Given the description of an element on the screen output the (x, y) to click on. 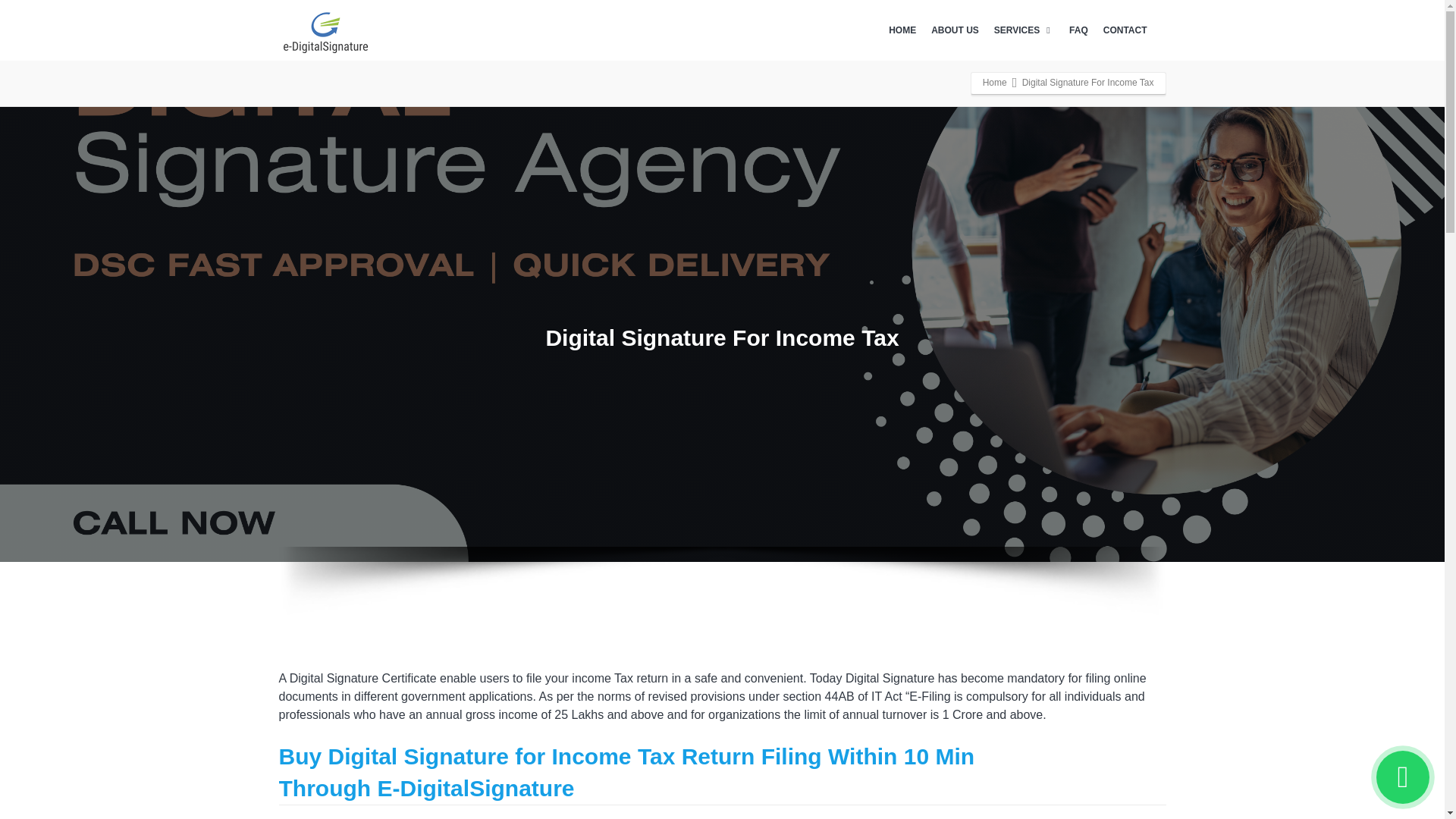
CONTACT (1125, 30)
ABOUT US (955, 30)
Home (994, 81)
SERVICES (1024, 30)
